Given the description of an element on the screen output the (x, y) to click on. 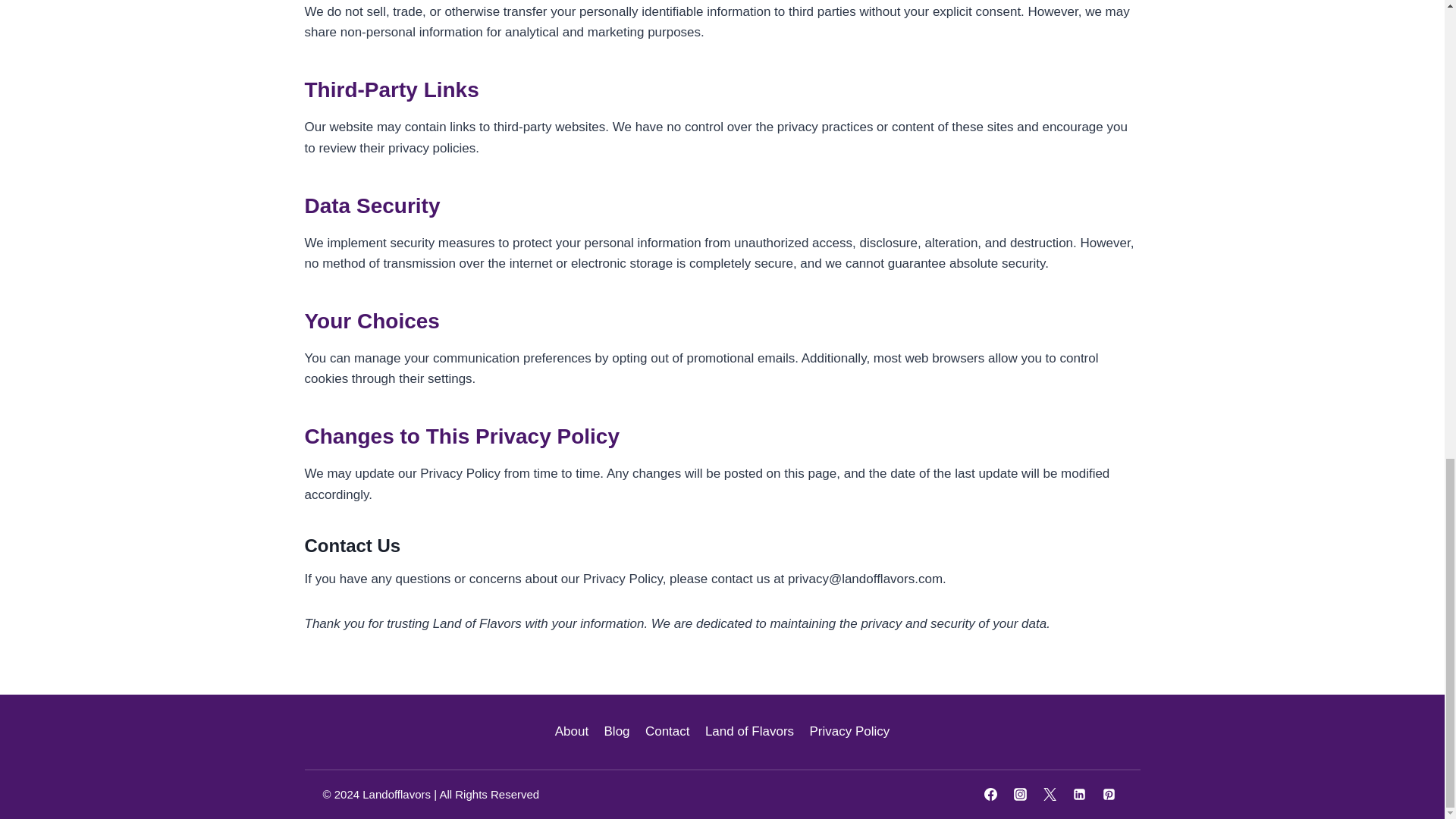
Privacy Policy (849, 731)
About (571, 731)
Land of Flavors (749, 731)
Blog (616, 731)
Contact (667, 731)
